Given the description of an element on the screen output the (x, y) to click on. 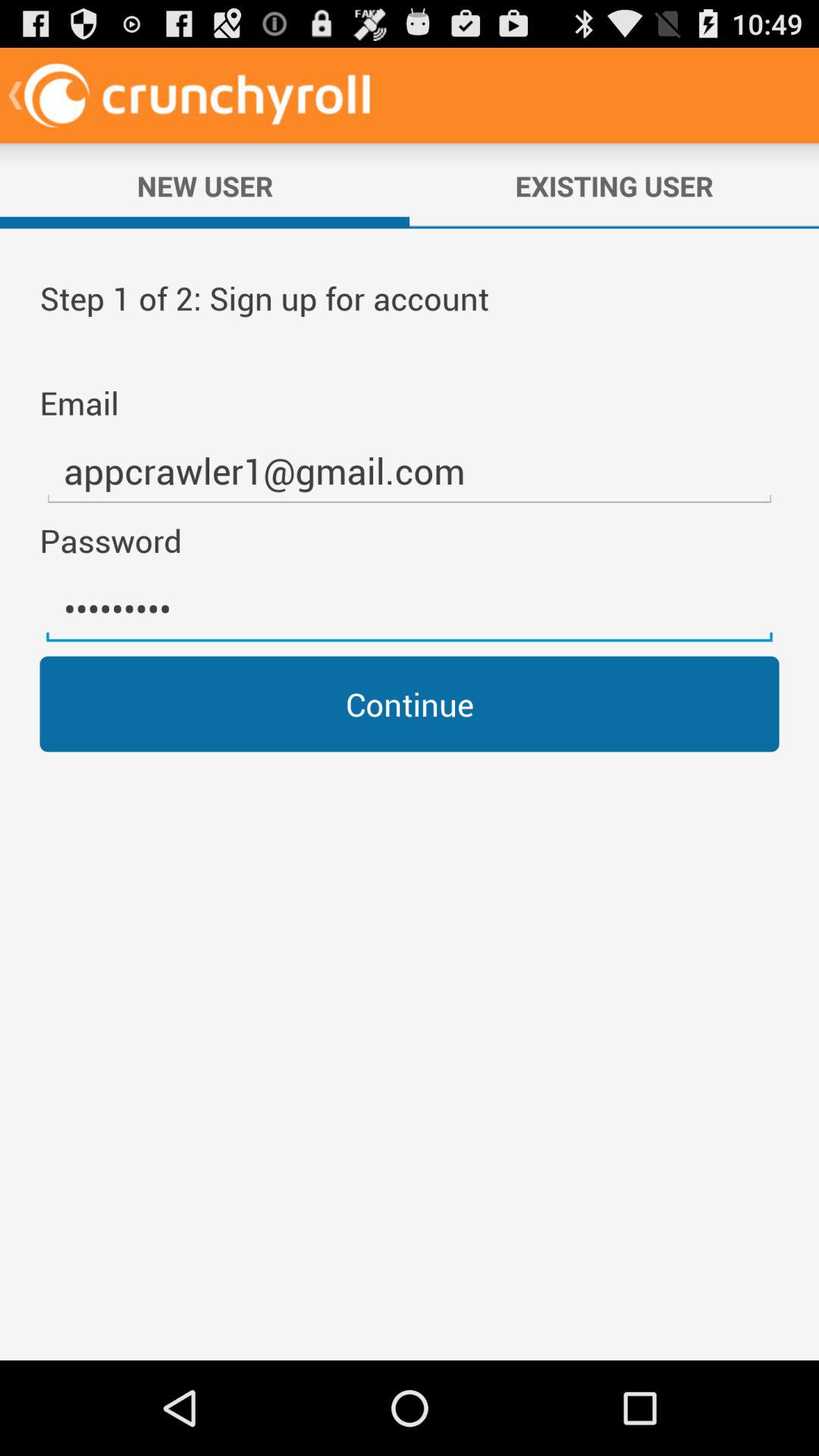
press the crowd3116 icon (409, 608)
